Given the description of an element on the screen output the (x, y) to click on. 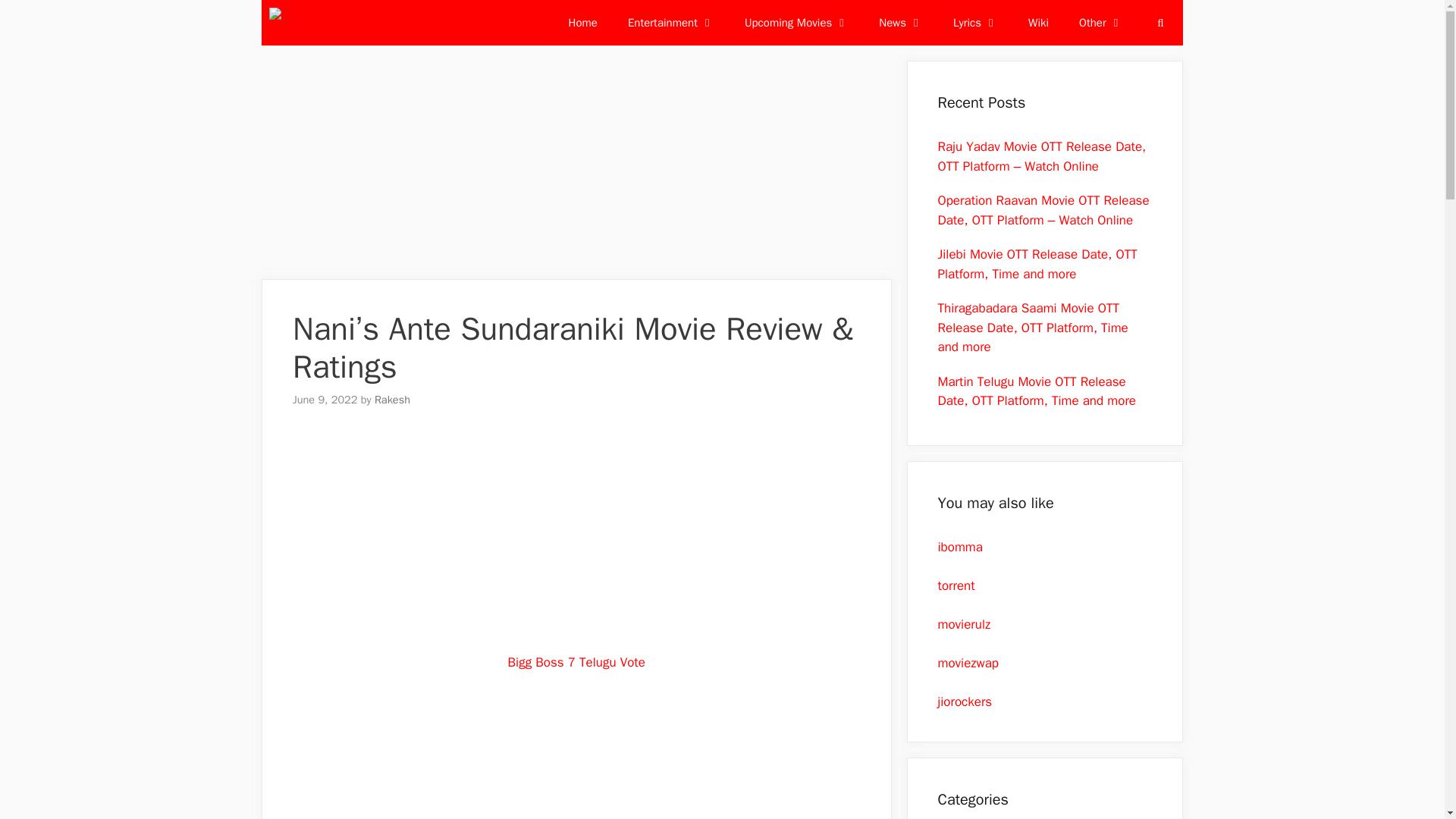
Advertisement (576, 755)
Advertisement (576, 166)
Telugu Hungama (315, 22)
Advertisement (576, 540)
Telugu Hungama (318, 22)
View all posts by Rakesh (392, 399)
